Given the description of an element on the screen output the (x, y) to click on. 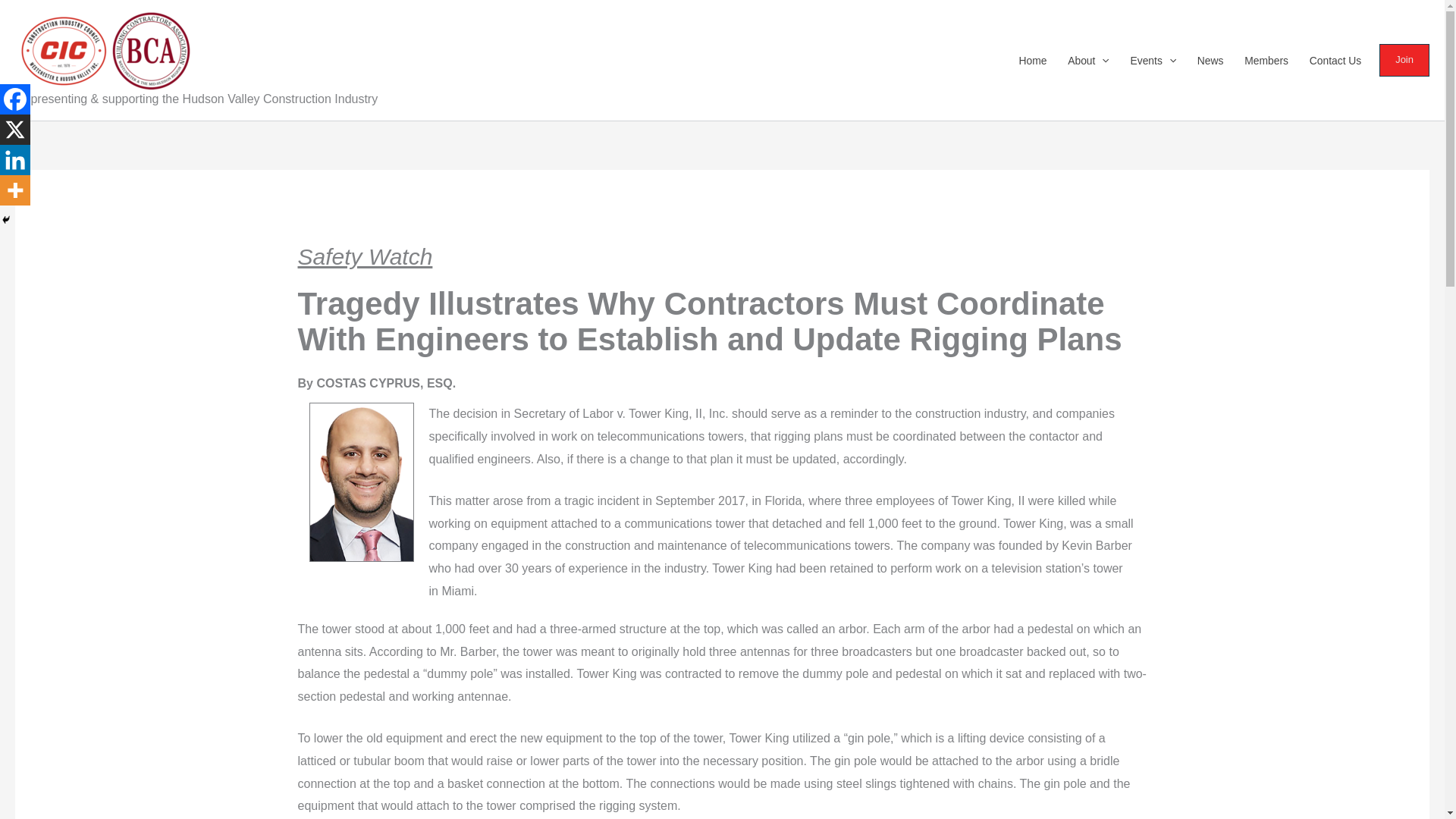
Events (1152, 60)
Contact Us (1334, 60)
Join (1408, 60)
Hide (5, 219)
About (1088, 60)
More (15, 190)
Members (1265, 60)
X (15, 129)
Facebook (15, 99)
Linkedin (15, 159)
